Given the description of an element on the screen output the (x, y) to click on. 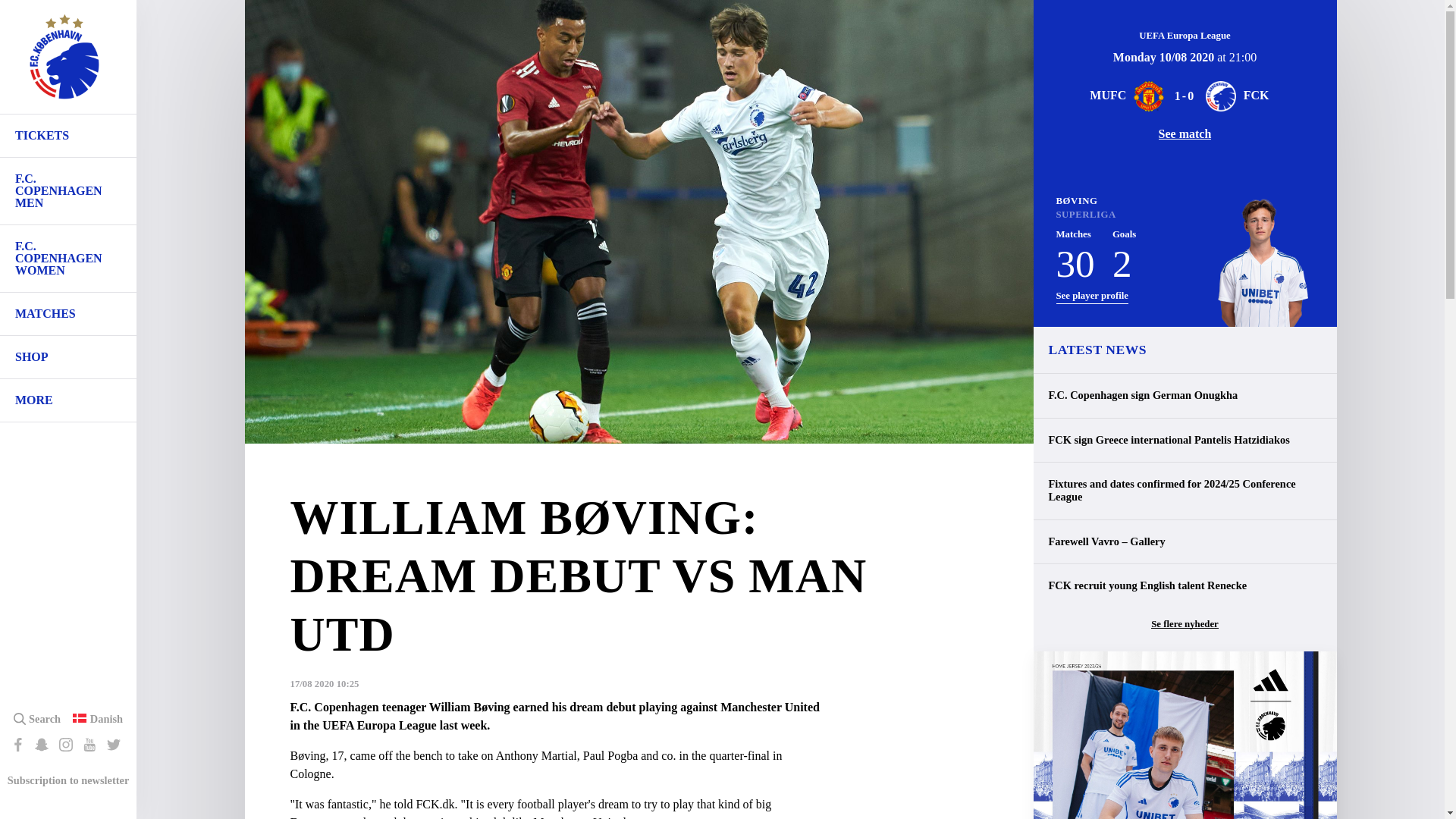
MORE (68, 400)
See match (1184, 132)
F.C. COPENHAGEN MEN (68, 191)
Tickets (68, 135)
F.C. COPENHAGEN WOMEN (68, 258)
SHOP (68, 356)
MATCHES (68, 313)
First team matches (68, 313)
Subscription to newsletter (68, 780)
